Given the description of an element on the screen output the (x, y) to click on. 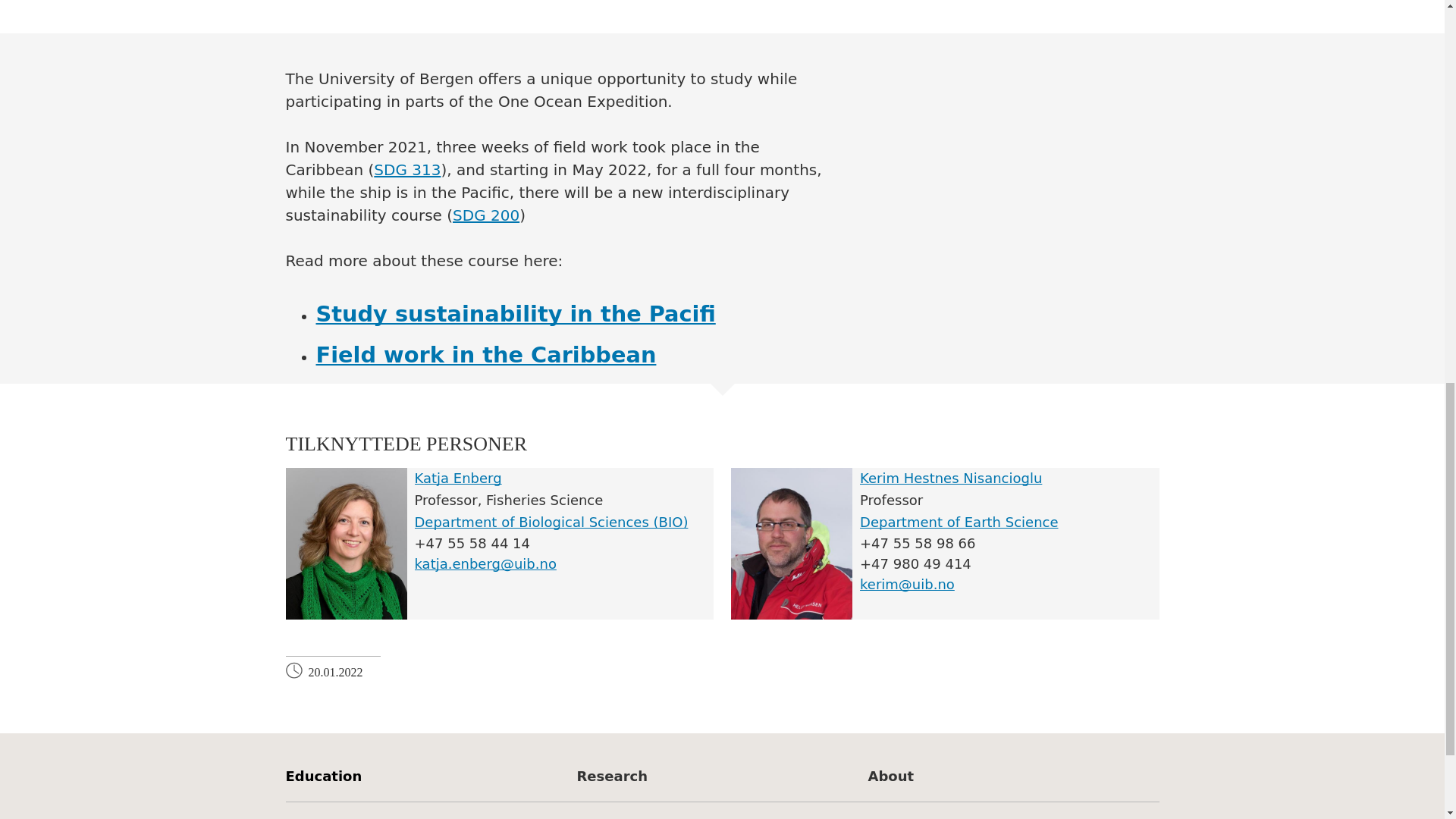
Study sustainability in the Pacifi (514, 313)
Katja Enberg (456, 478)
SDG 200 (485, 215)
SDG 313 (407, 169)
Field work in the Caribbean (485, 354)
